Given the description of an element on the screen output the (x, y) to click on. 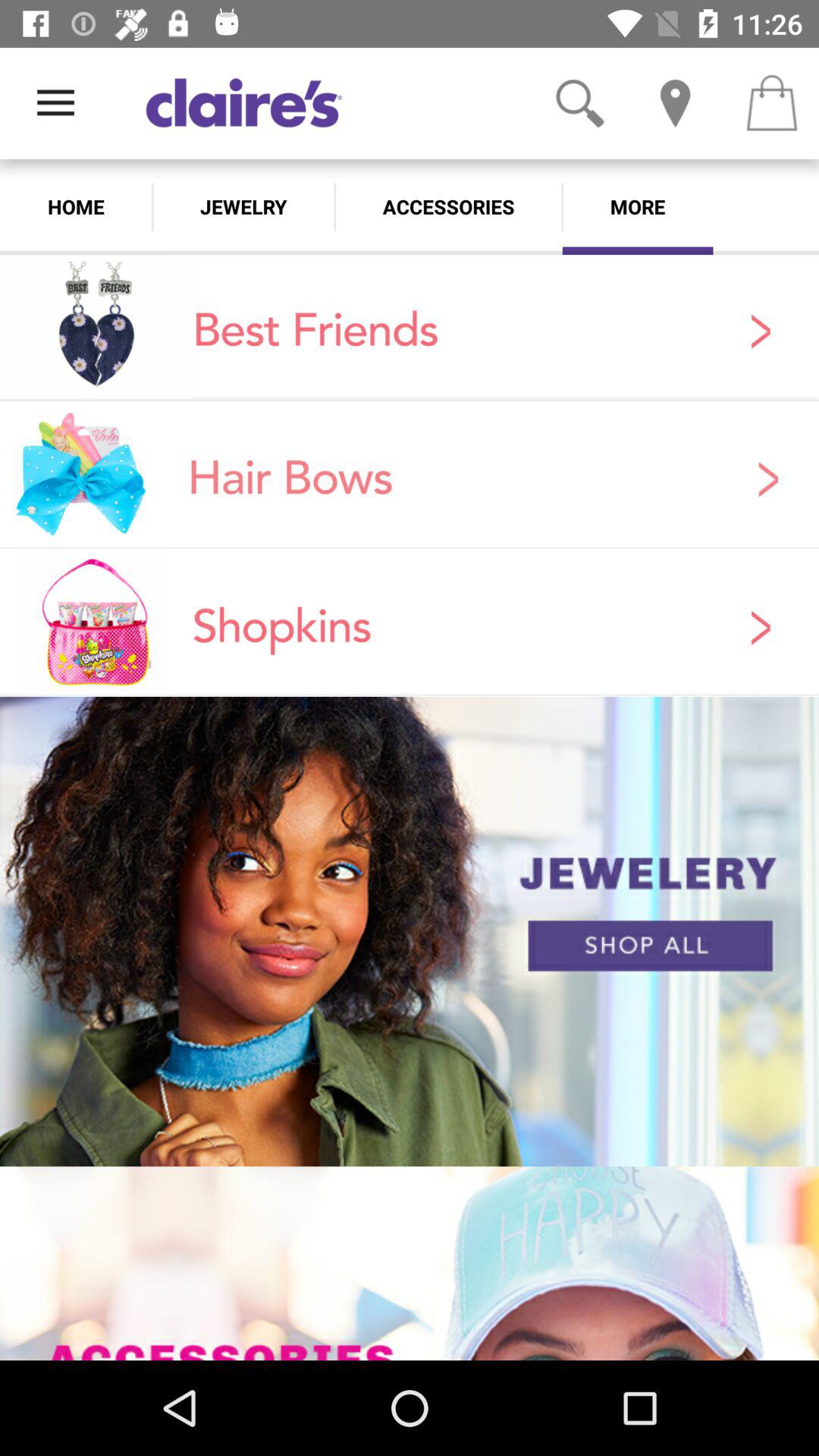
tap app above the accessories item (579, 103)
